Given the description of an element on the screen output the (x, y) to click on. 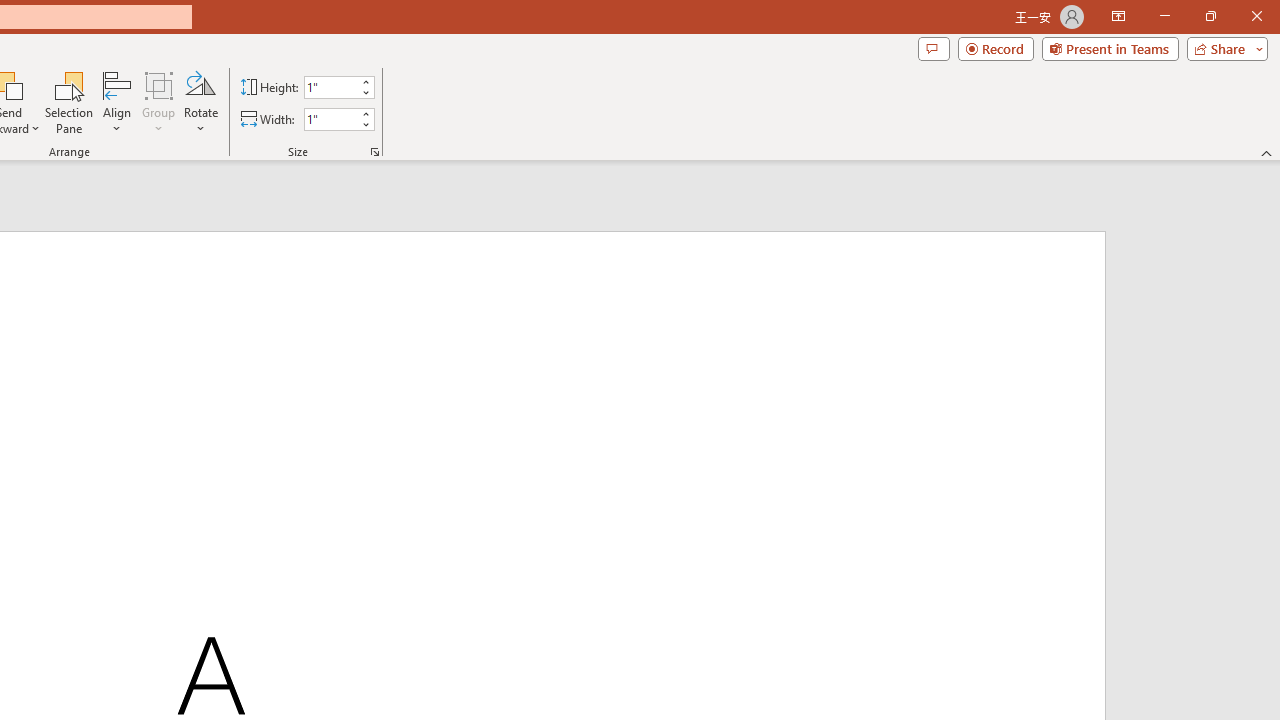
Align (117, 102)
Selection Pane... (69, 102)
Shape Height (330, 87)
